Given the description of an element on the screen output the (x, y) to click on. 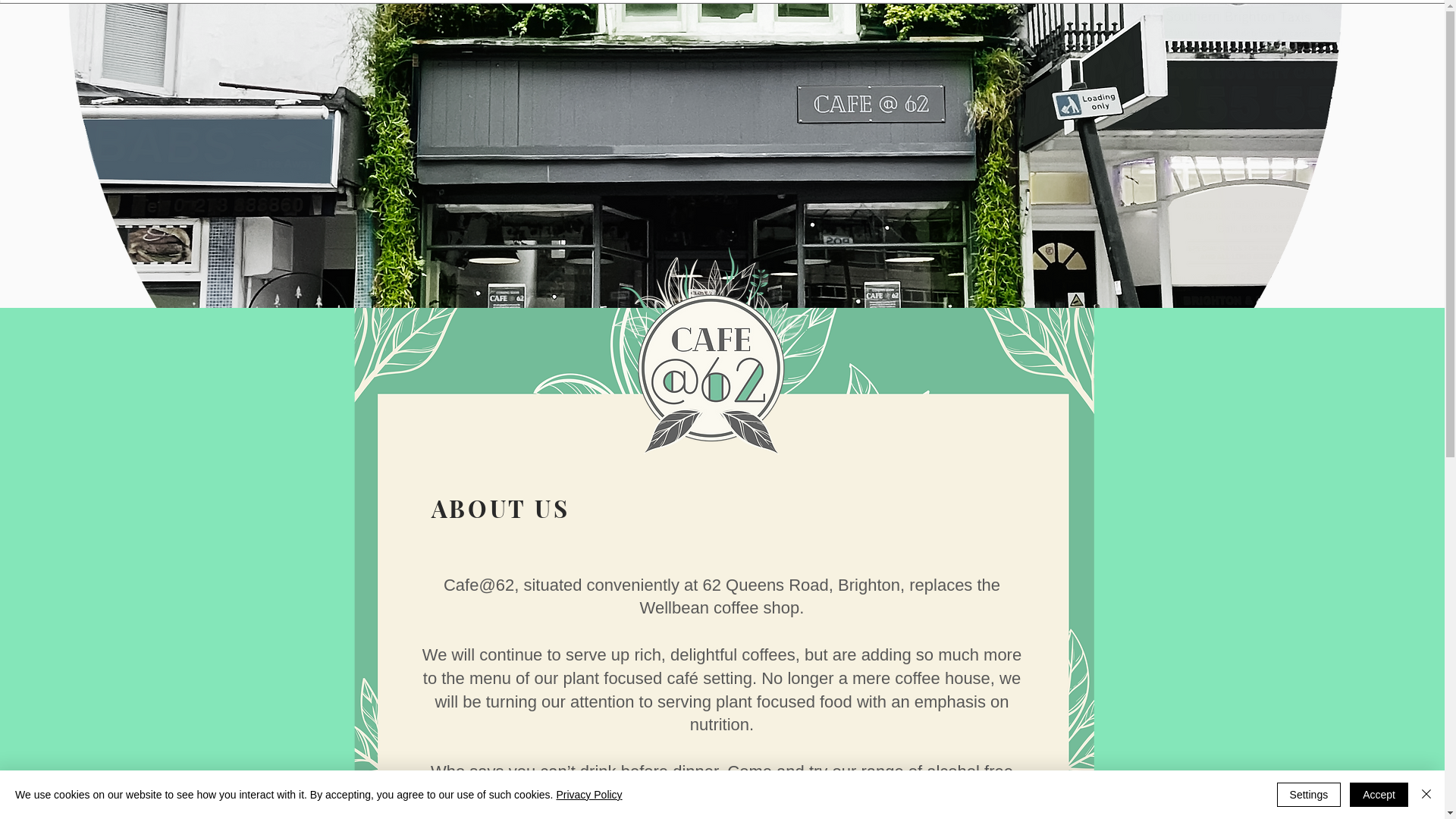
Accept Element type: text (1378, 794)
Settings Element type: text (1309, 794)
Privacy Policy Element type: text (588, 794)
